Given the description of an element on the screen output the (x, y) to click on. 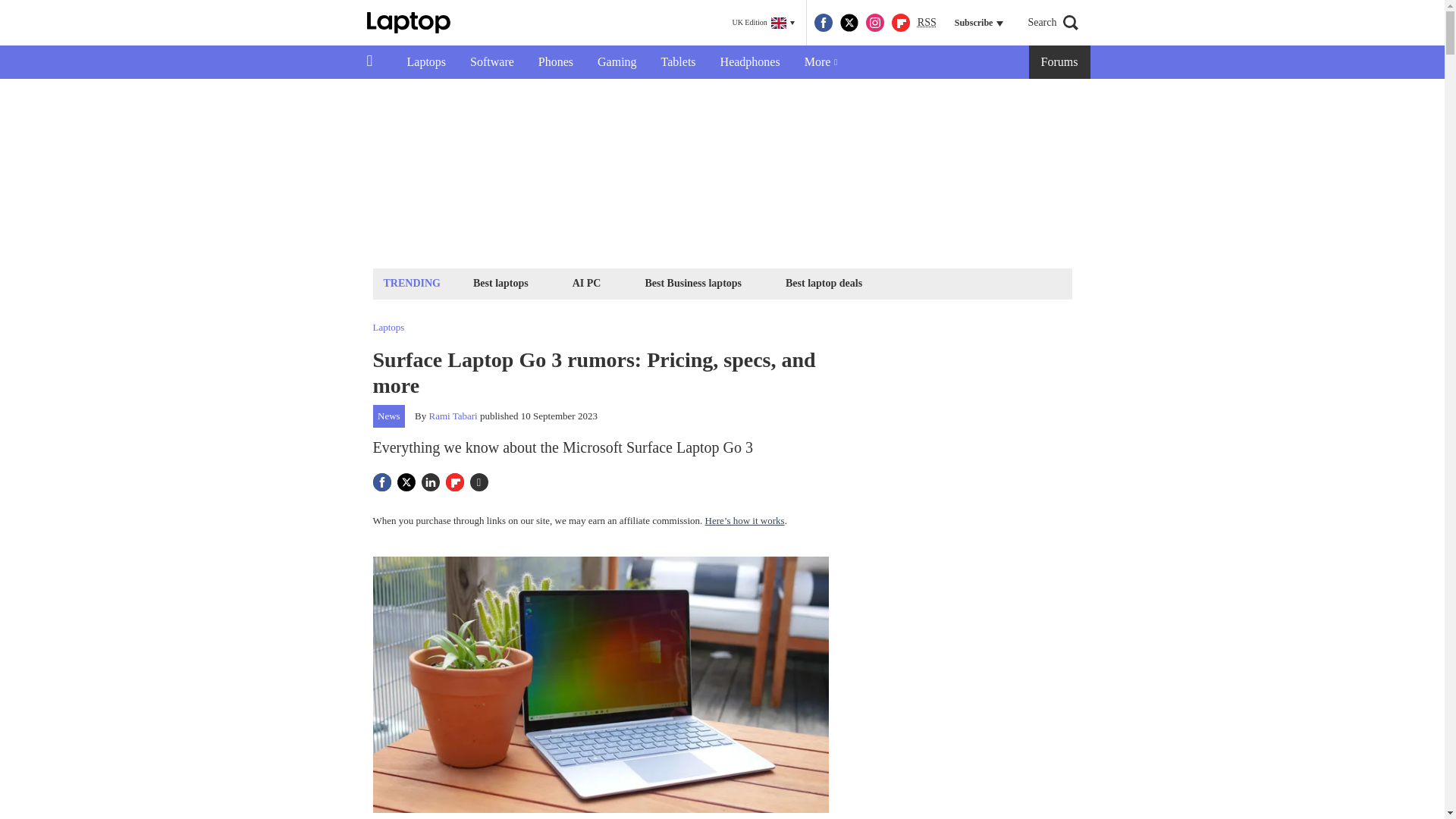
Headphones (749, 61)
Best laptops (500, 282)
Forums (1059, 61)
Tablets (678, 61)
Best Business laptops (692, 282)
Laptops (426, 61)
AI PC (587, 282)
Really Simple Syndication (926, 21)
RSS (926, 22)
Software (491, 61)
